Given the description of an element on the screen output the (x, y) to click on. 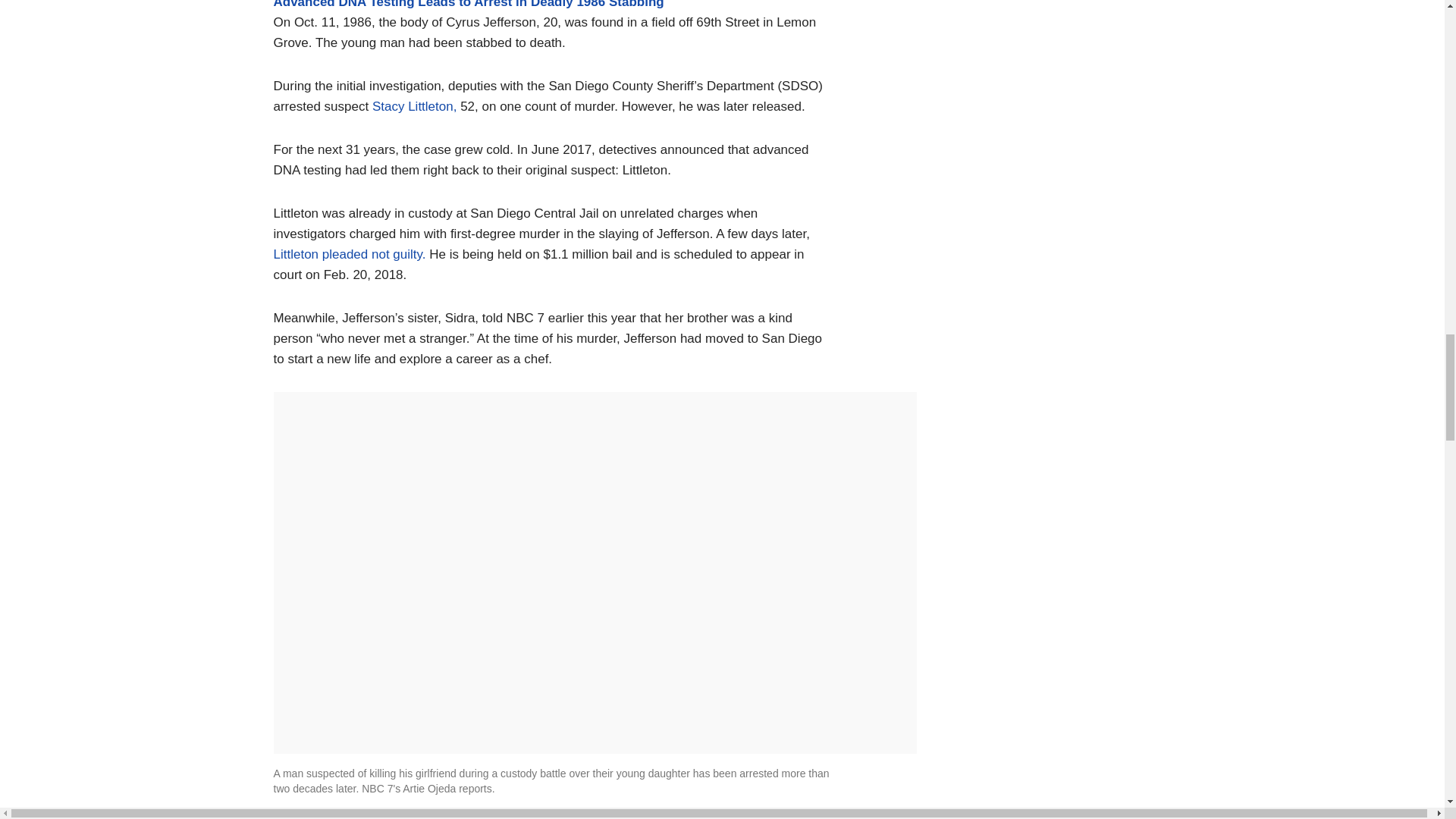
Littleton pleaded not guilty. (349, 254)
Advanced DNA Testing Leads to Arrest in Deadly 1986 Stabbing (468, 4)
Stacy Littleton, (414, 106)
Man Arrested for 1992 Killing of Girlfriend (400, 815)
